Given the description of an element on the screen output the (x, y) to click on. 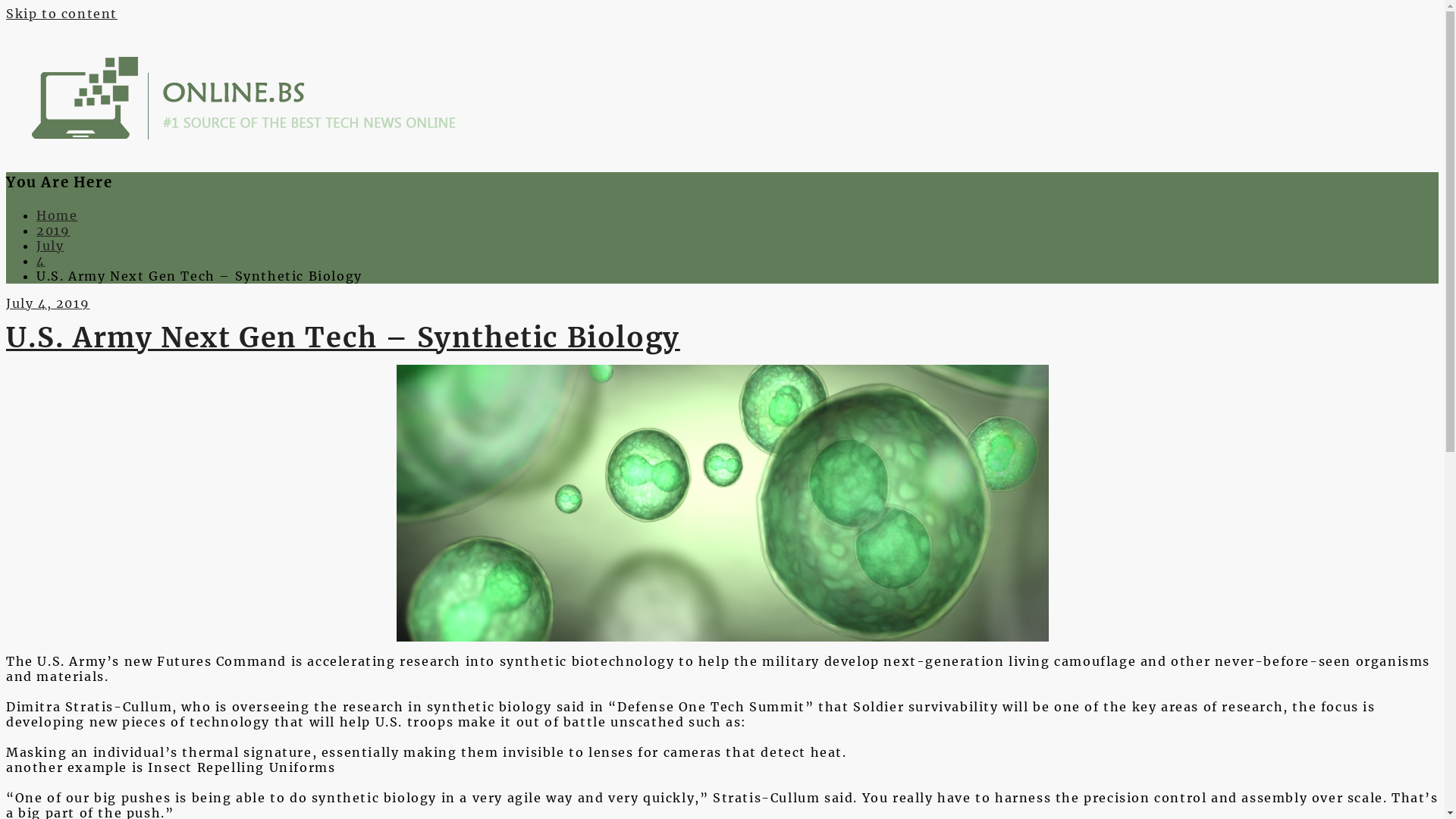
4 Element type: text (40, 260)
Home Element type: text (56, 214)
July Element type: text (49, 245)
Skip to content Element type: text (61, 13)
July 4, 2019 Element type: text (47, 302)
2019 Element type: text (52, 230)
